Given the description of an element on the screen output the (x, y) to click on. 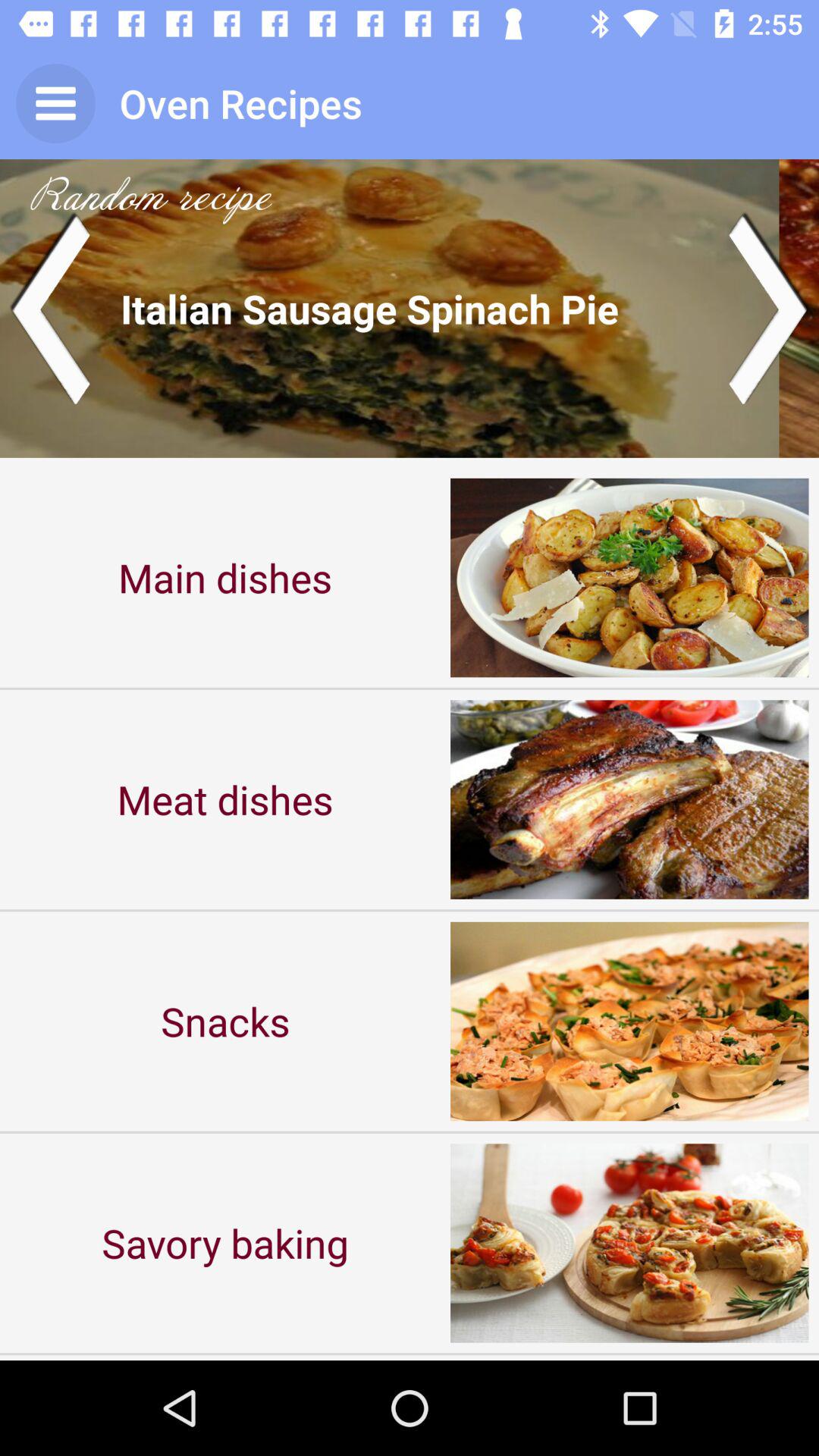
turn on item below the main dishes (225, 798)
